Given the description of an element on the screen output the (x, y) to click on. 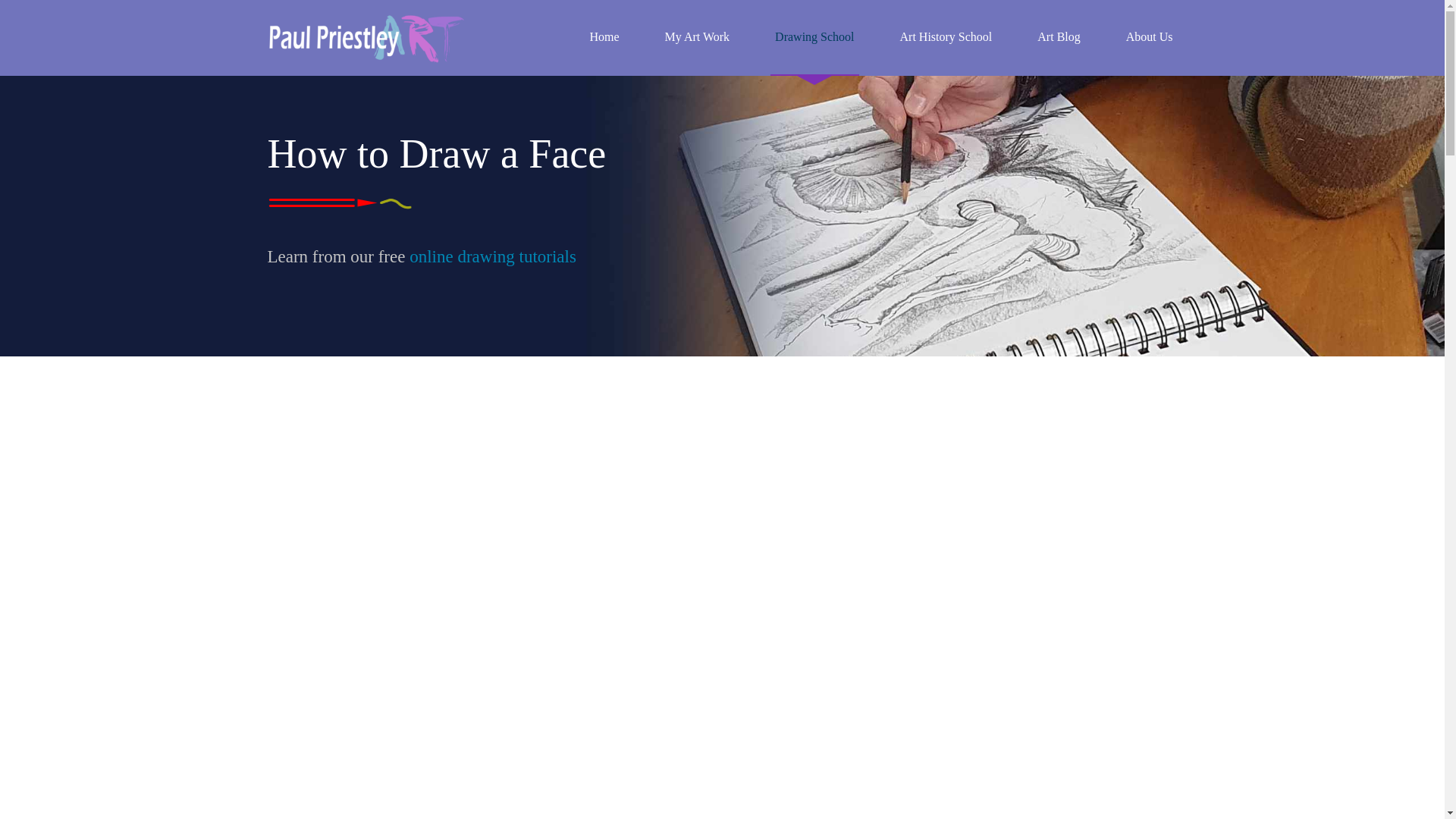
Drawing School (814, 38)
Art History School (946, 38)
My Art Work (698, 38)
online drawing tutorials (492, 256)
pencil logo (372, 206)
